Given the description of an element on the screen output the (x, y) to click on. 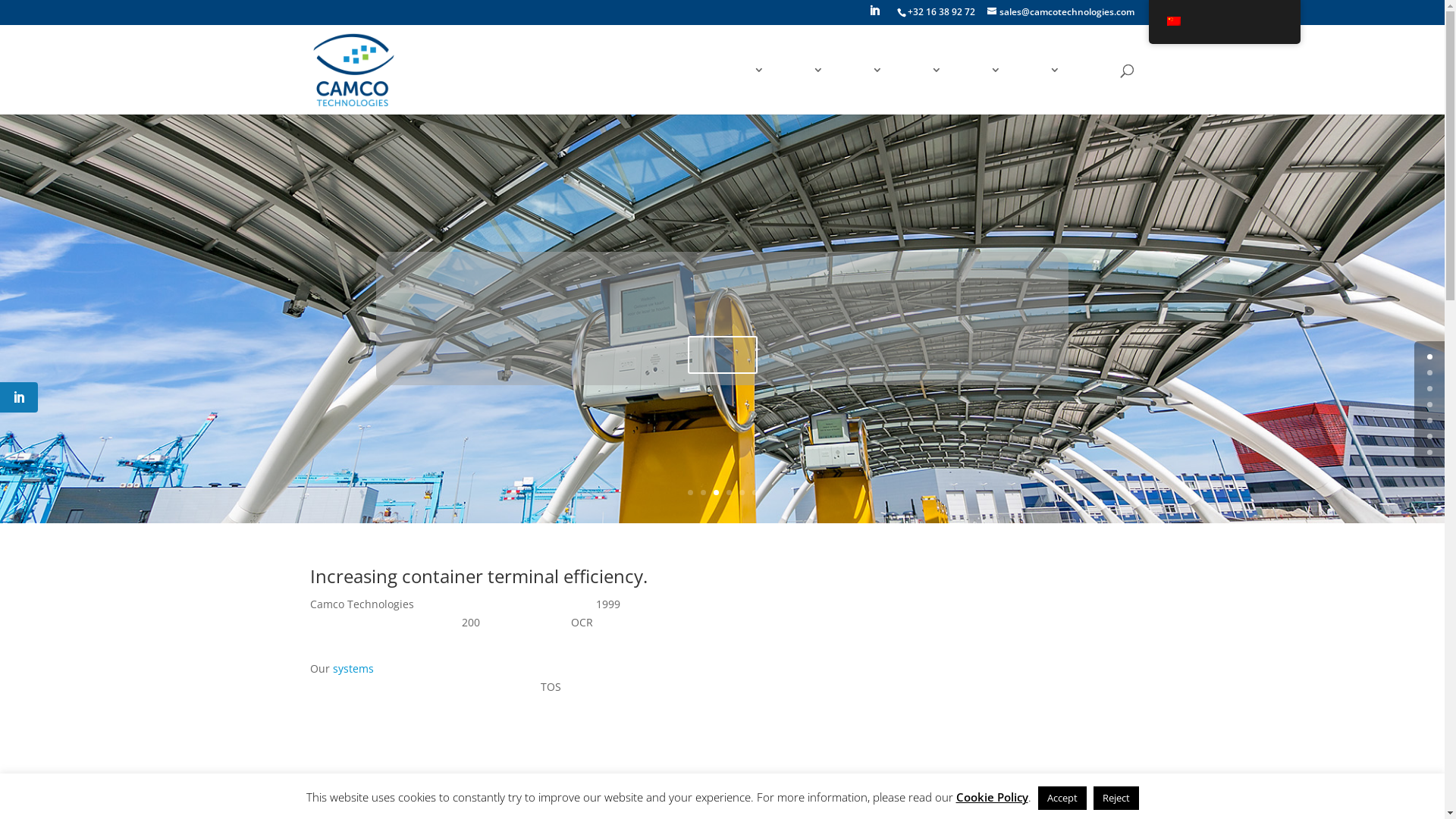
3 Element type: text (1429, 404)
4 Element type: text (1429, 420)
1 Element type: text (1429, 372)
2 Element type: text (703, 492)
Reject Element type: text (1116, 797)
Accept Element type: text (1061, 797)
4 Element type: text (728, 492)
systems Element type: text (352, 668)
3 Element type: text (715, 492)
0 Element type: text (1429, 356)
Cookie Policy Element type: text (991, 796)
1 Element type: text (689, 492)
6 Element type: text (754, 492)
5 Element type: text (740, 492)
6 Element type: text (1429, 452)
5 Element type: text (1429, 436)
sales@camcotechnologies.com Element type: text (1060, 11)
2 Element type: text (1429, 388)
